Given the description of an element on the screen output the (x, y) to click on. 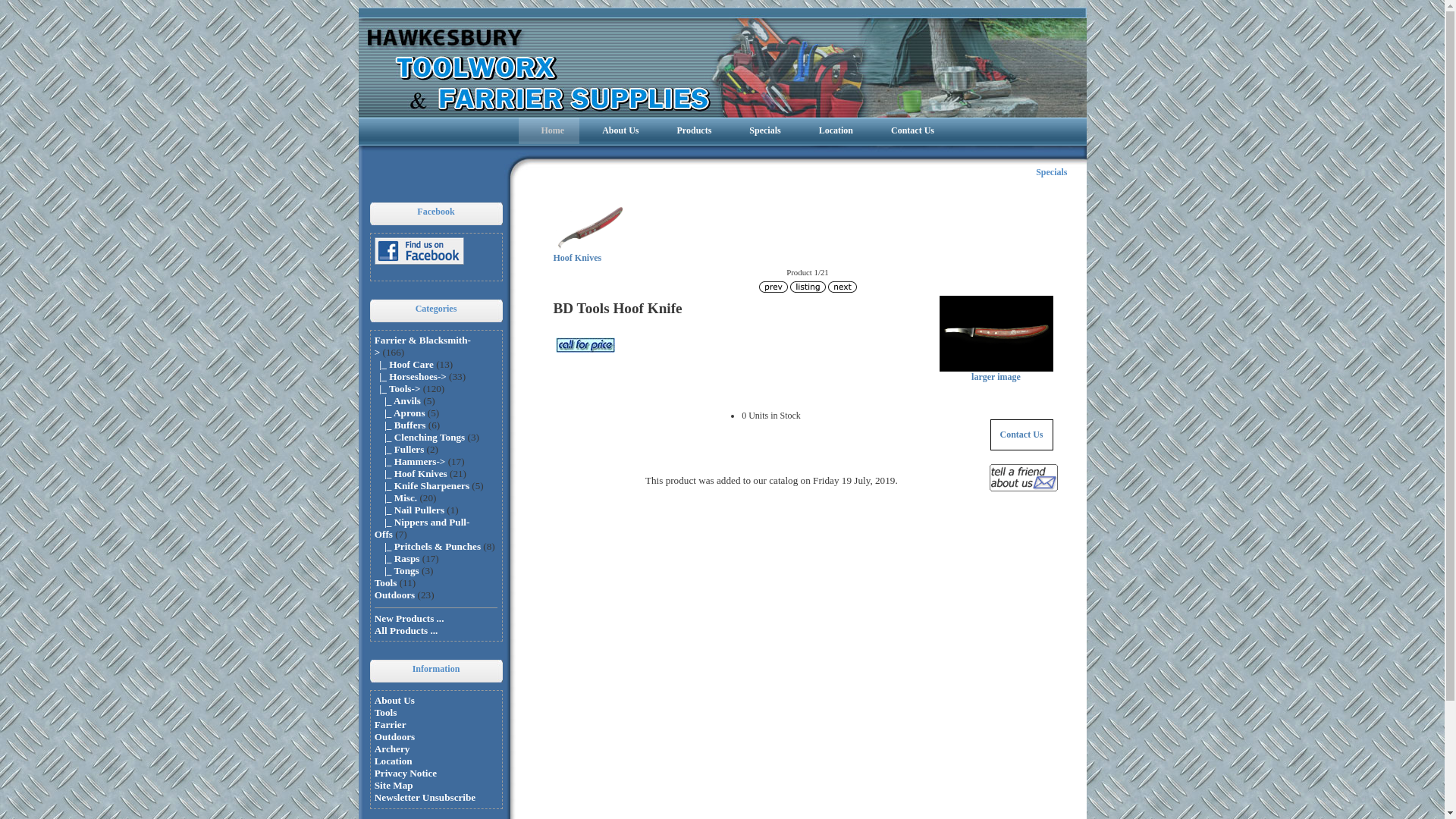
Tools Element type: text (385, 582)
    |_ Hoof Knives Element type: text (410, 473)
About Us Element type: text (616, 130)
New Products ... Element type: text (409, 618)
Contact Us Element type: text (908, 130)
    |_ Tongs Element type: text (396, 570)
  |_ Horseshoes-> Element type: text (410, 376)
  |_ Tools-> Element type: text (397, 388)
Outdoors Element type: text (394, 736)
Farrier & Blacksmith-> Element type: text (422, 345)
 Hoof Knives  Element type: hover (591, 227)
Products Element type: text (690, 130)
Specials Element type: text (760, 130)
Hoof Knives Element type: text (591, 253)
    |_ Fullers Element type: text (399, 449)
    |_ Clenching Tongs Element type: text (419, 436)
    |_ Anvils Element type: text (397, 400)
 BD Tools Hoof Knife  Element type: hover (995, 333)
 Next  Element type: hover (842, 286)
    |_ Rasps Element type: text (397, 558)
Location Element type: text (832, 130)
Contact Us Element type: text (1020, 434)
    |_ Knife Sharpeners Element type: text (421, 485)
Newsletter Unsubscribe Element type: text (424, 797)
    |_ Aprons Element type: text (399, 412)
Tools Element type: text (385, 712)
larger image Element type: text (995, 372)
About Us Element type: text (394, 700)
    |_ Buffers Element type: text (400, 424)
Farrier Element type: text (390, 724)
Location Element type: text (393, 760)
 Call for Price  Element type: hover (584, 344)
 Tell a Friend  Element type: hover (1022, 477)
    |_ Pritchels & Punches Element type: text (427, 546)
Home Element type: text (549, 130)
Specials Element type: text (1051, 171)
    |_ Hammers-> Element type: text (409, 461)
    |_ Nail Pullers Element type: text (409, 509)
    |_ Misc. Element type: text (395, 497)
All Products ... Element type: text (406, 630)
Privacy Notice Element type: text (405, 772)
Site Map Element type: text (393, 784)
 Return to the Product List  Element type: hover (807, 286)
Archery Element type: text (392, 748)
    |_ Nippers and Pull-Offs Element type: text (422, 527)
 Previous  Element type: hover (772, 286)
  |_ Hoof Care Element type: text (403, 364)
Outdoors Element type: text (394, 594)
